Given the description of an element on the screen output the (x, y) to click on. 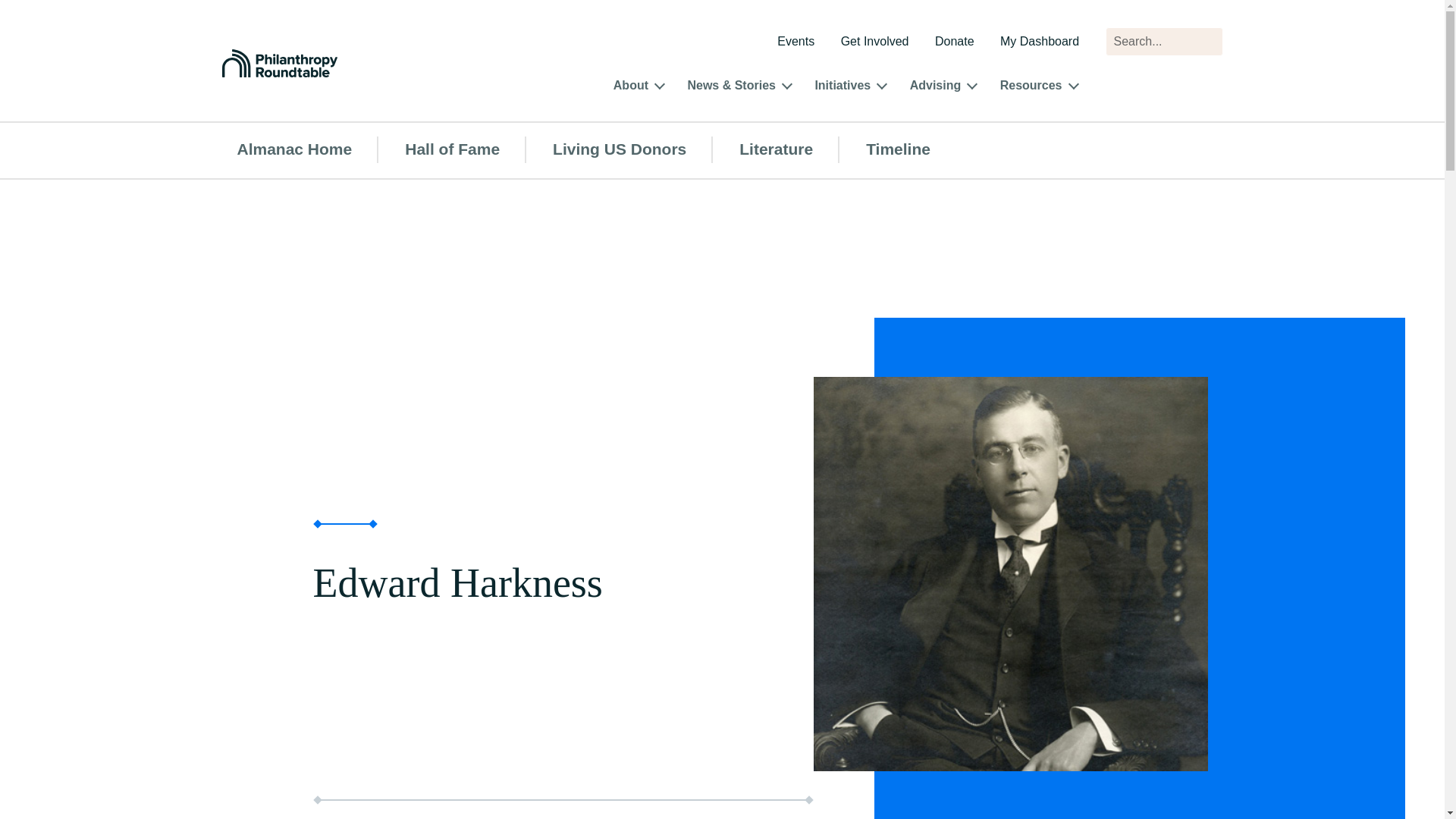
About (629, 87)
Initiatives (841, 87)
Literature (775, 149)
Almanac Home (293, 149)
Donate (954, 41)
Living US Donors (619, 149)
Events (795, 41)
Hall of Fame (451, 149)
Advising (935, 87)
Get Involved (874, 41)
Timeline (898, 149)
Resources (1031, 87)
My Dashboard (1039, 41)
